Given the description of an element on the screen output the (x, y) to click on. 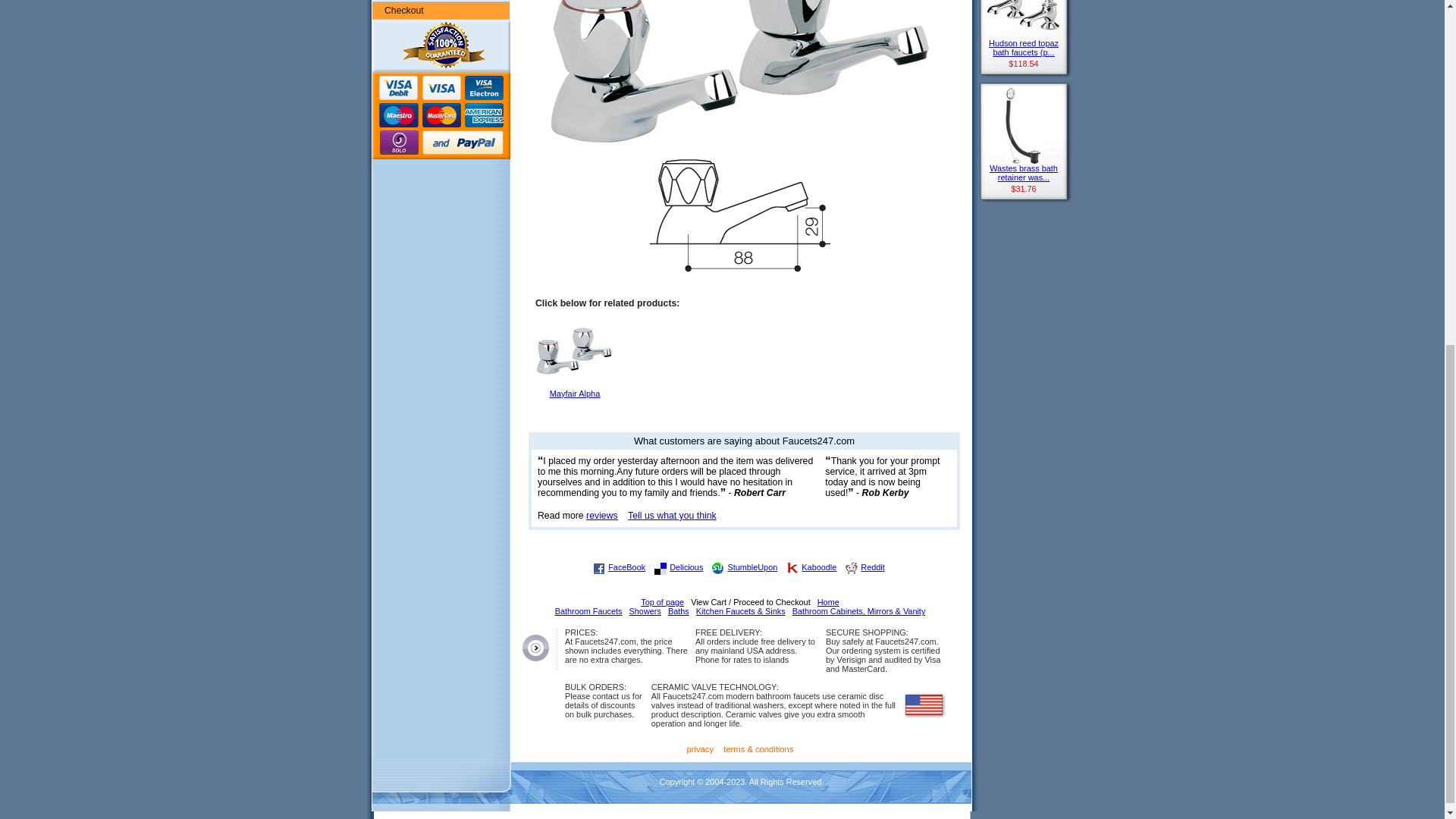
Mayfair Alpha (574, 395)
Tell us what you think (671, 515)
reviews (601, 515)
